Given the description of an element on the screen output the (x, y) to click on. 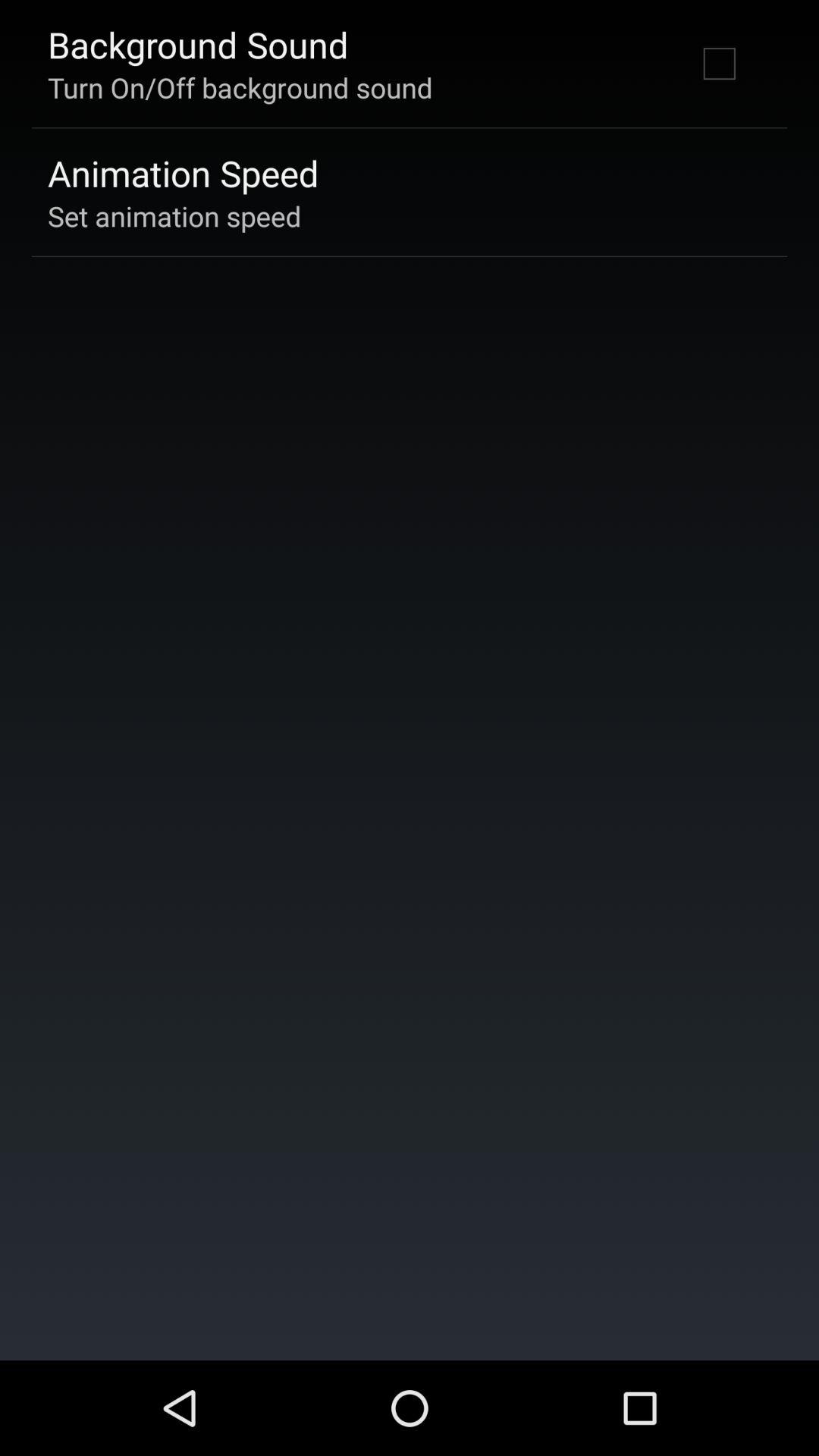
open the item above the animation speed (239, 87)
